Given the description of an element on the screen output the (x, y) to click on. 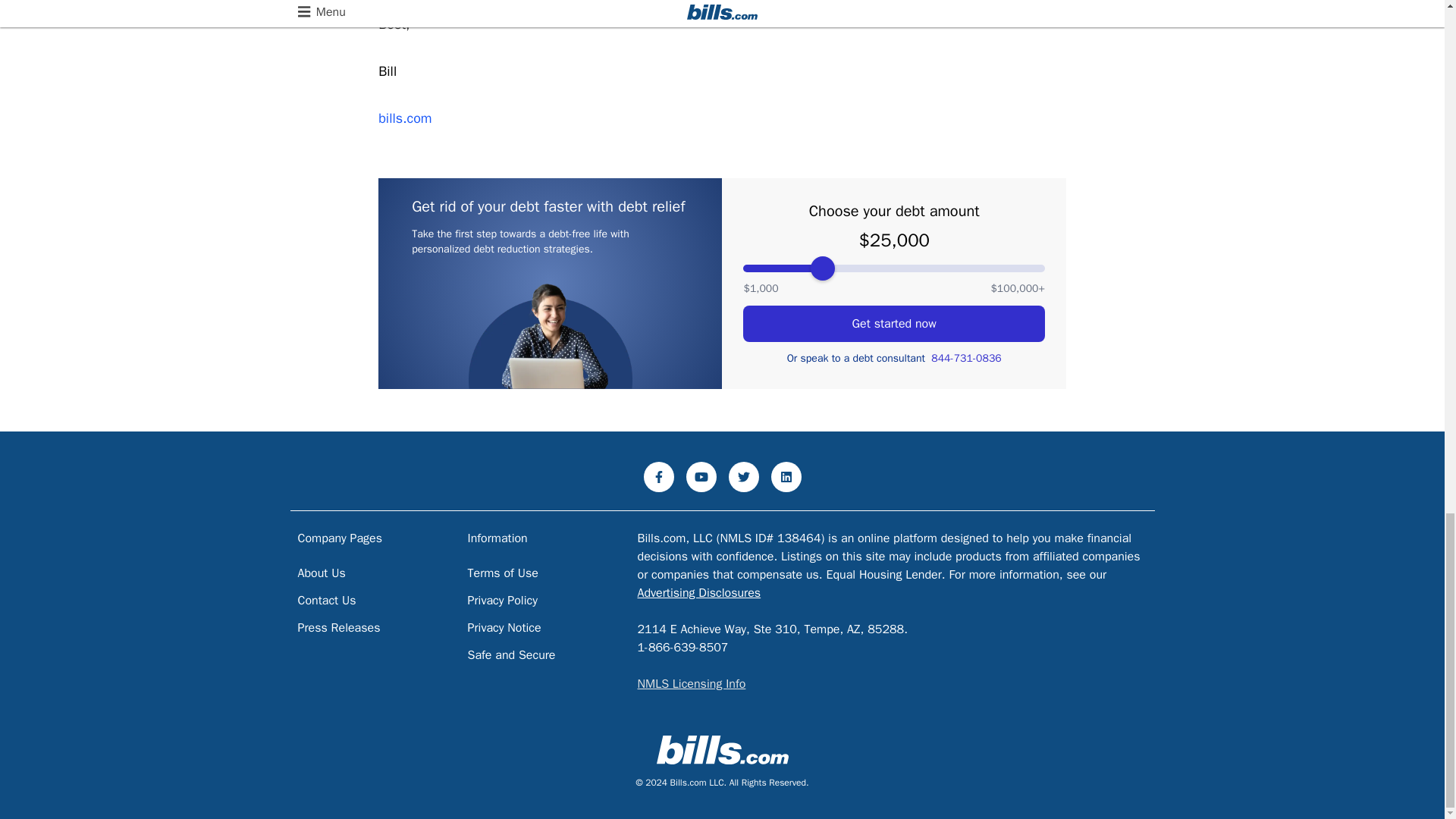
25000 (892, 267)
